Given the description of an element on the screen output the (x, y) to click on. 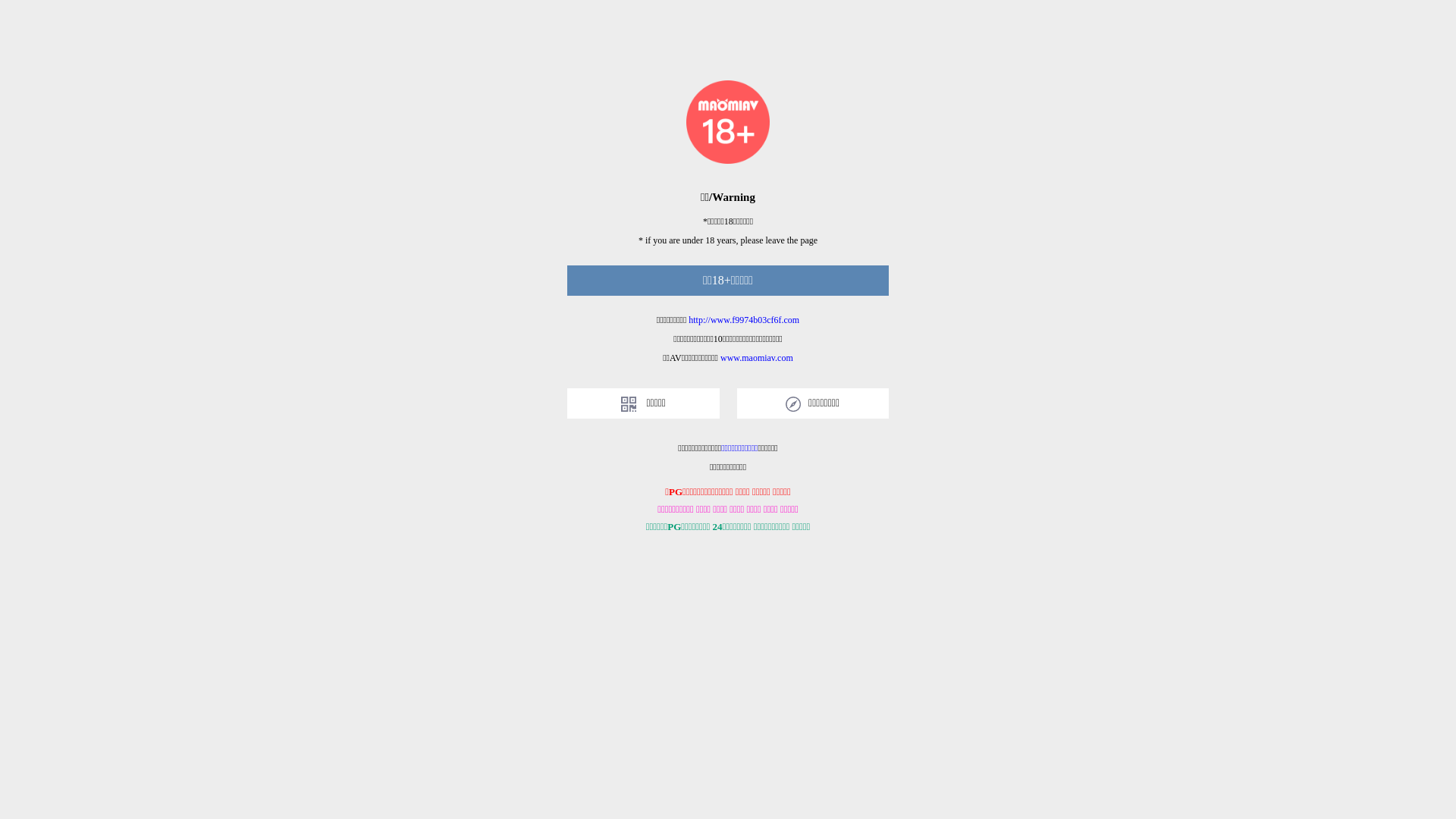
www.maomiav.com Element type: text (756, 357)
http://www.f9974b03cf6f.com Element type: text (743, 319)
